Given the description of an element on the screen output the (x, y) to click on. 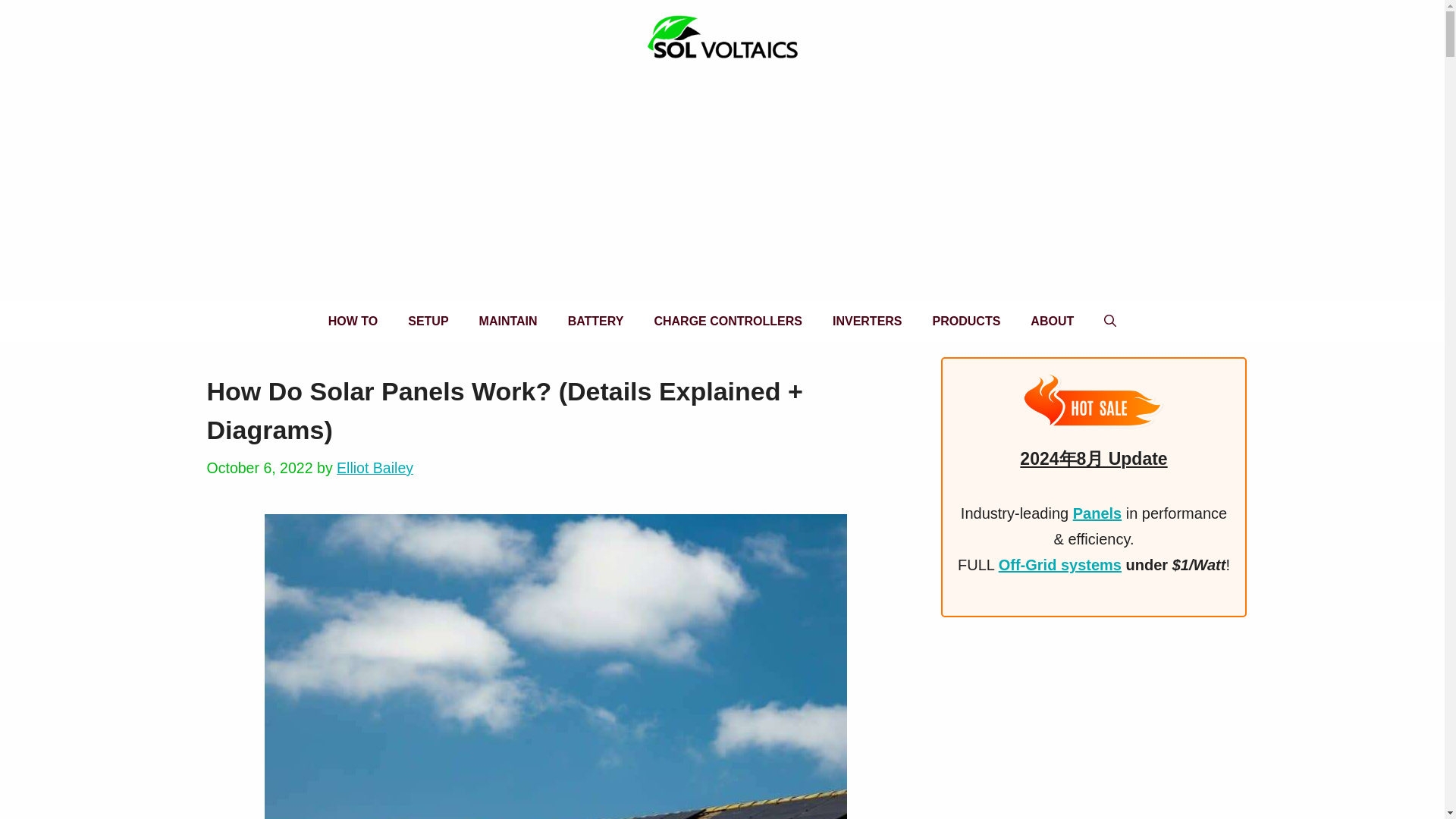
CHARGE CONTROLLERS (727, 321)
MAINTAIN (508, 321)
Panels (1097, 513)
Off-Grid systems (1059, 564)
PRODUCTS (966, 321)
Elliot Bailey (374, 467)
INVERTERS (866, 321)
ABOUT (1051, 321)
View all posts by Elliot Bailey (374, 467)
HOW TO (353, 321)
